Given the description of an element on the screen output the (x, y) to click on. 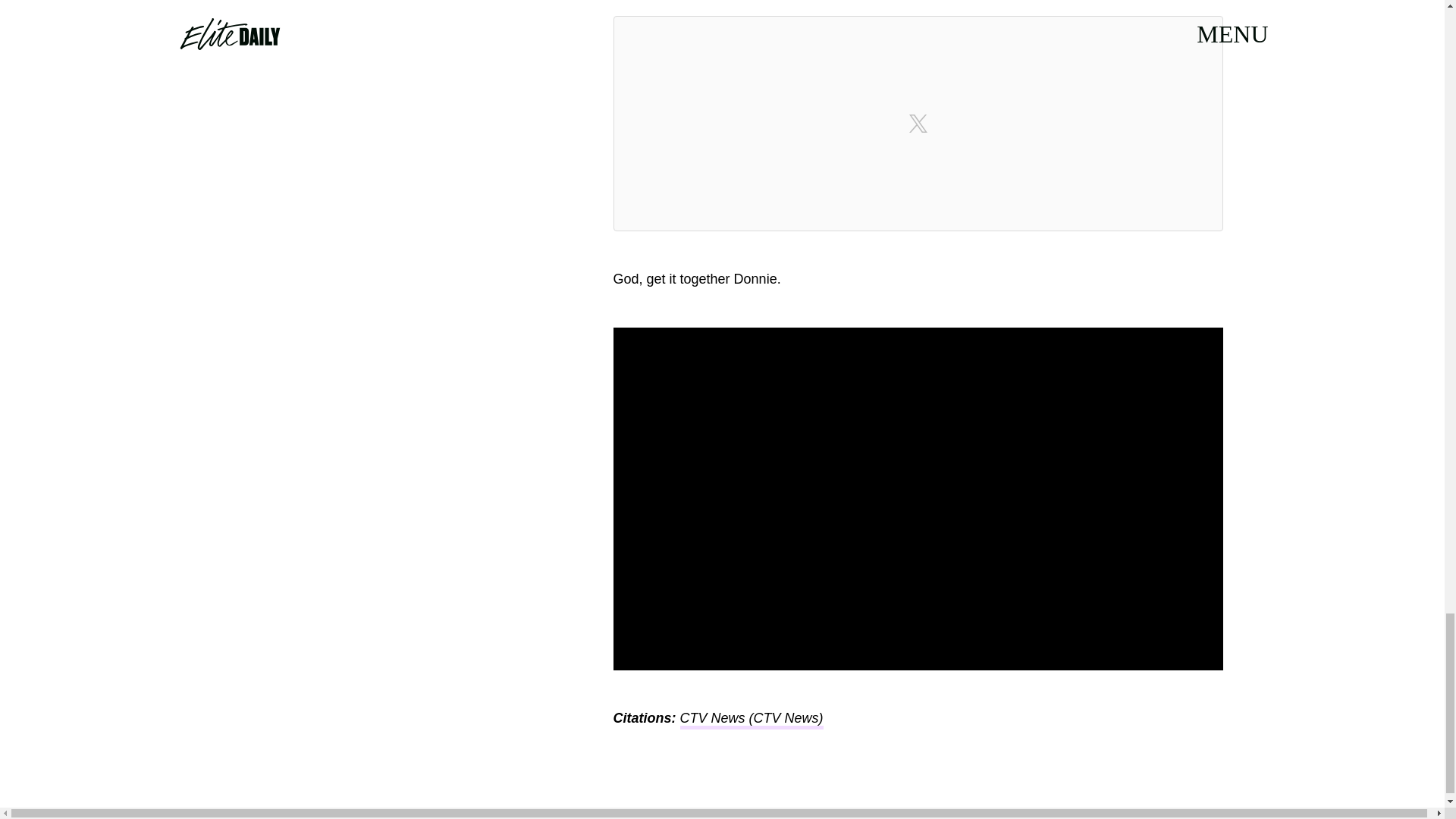
CTV News (711, 719)
